Given the description of an element on the screen output the (x, y) to click on. 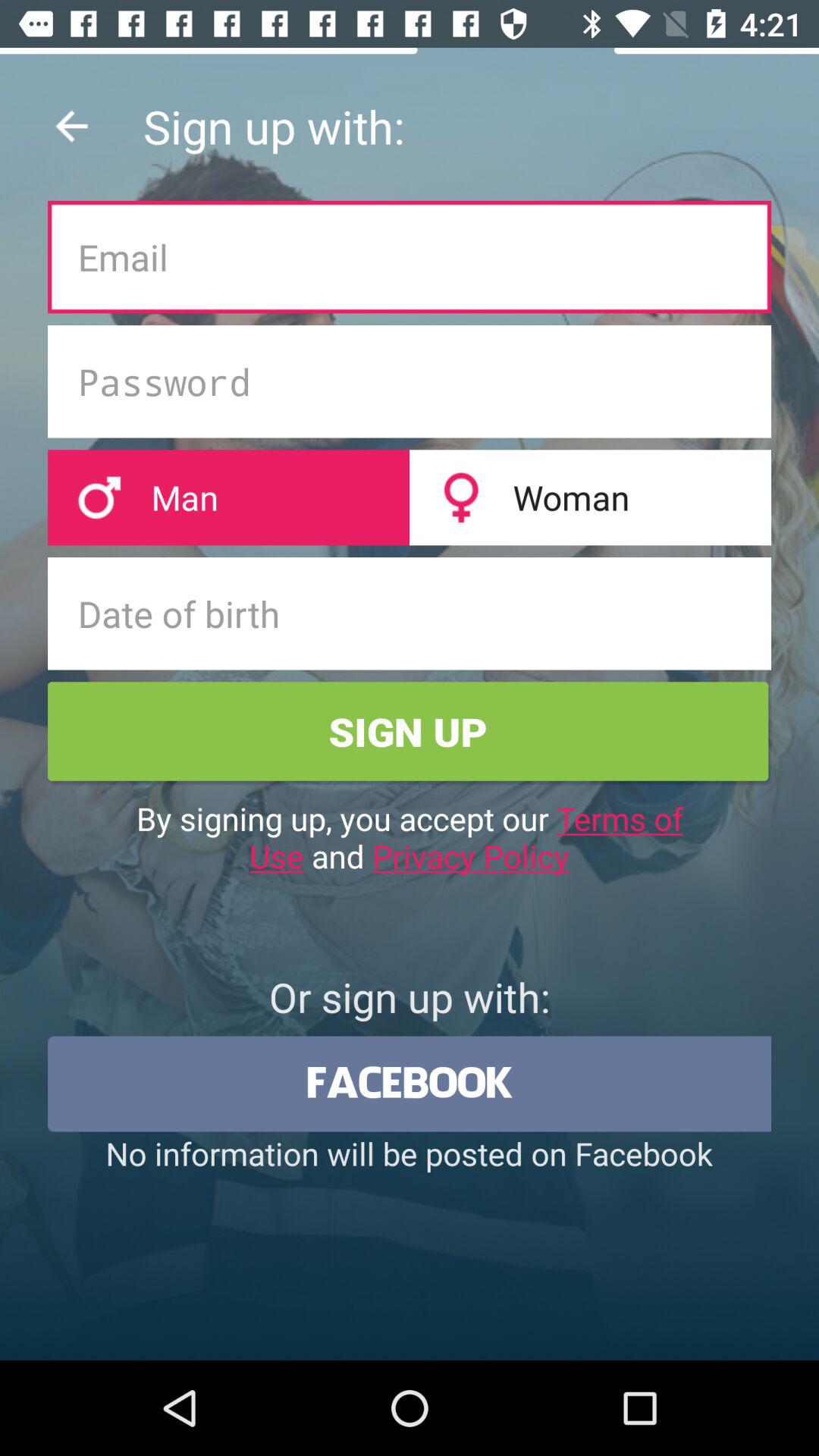
go to green color box (409, 732)
text field above sign up button (409, 613)
click on the second text feed box (409, 381)
select the gender switch button (409, 496)
go to text below sign up (409, 836)
